Given the description of an element on the screen output the (x, y) to click on. 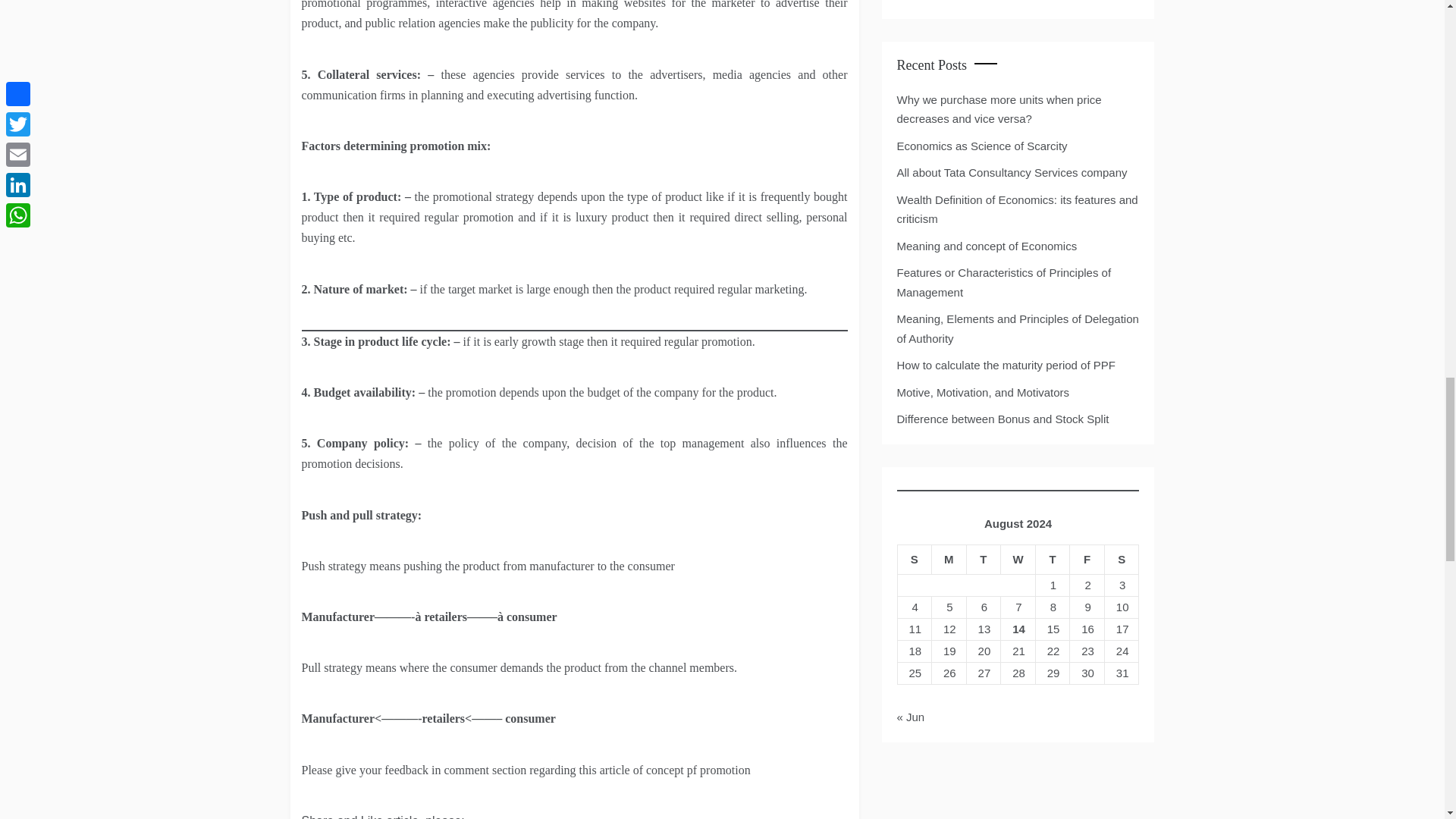
Monday (948, 559)
Wednesday (1018, 559)
Tuesday (983, 559)
Sunday (913, 559)
